Given the description of an element on the screen output the (x, y) to click on. 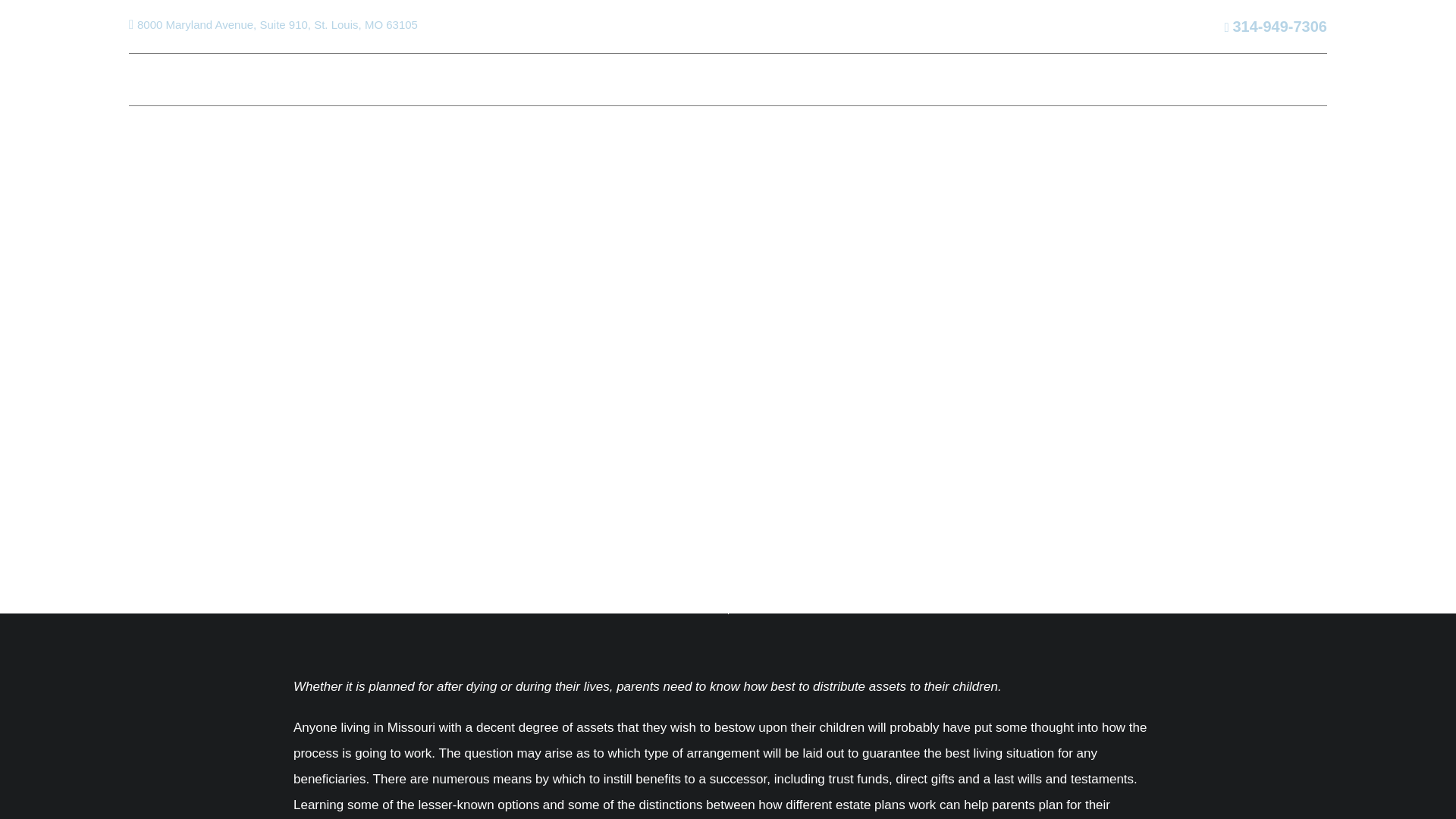
PRACTICE AREAS (358, 79)
HOME (148, 79)
TESTIMONIALS (1010, 79)
CONTACT (1103, 79)
314-949-7306 (1275, 27)
ABOUT (234, 79)
ARTICLES (865, 79)
REPRESENTATIVE CASES (540, 79)
BLOG (929, 79)
